Given the description of an element on the screen output the (x, y) to click on. 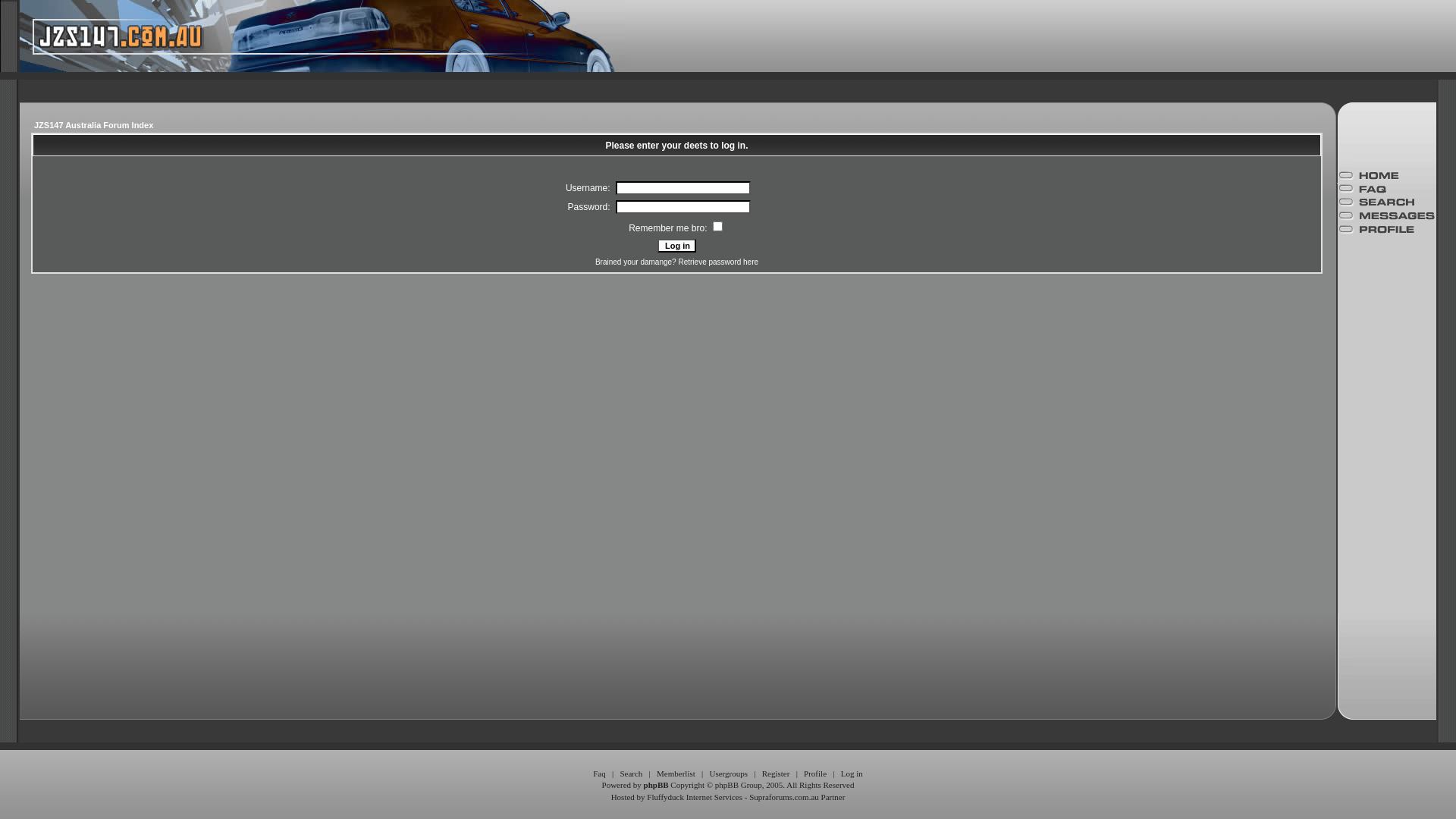
Brained your damange? Retrieve password here Element type: text (676, 261)
Log in Element type: text (676, 245)
Memberlist Element type: text (675, 773)
Supraforums.com.au Partner Element type: text (796, 796)
Faq Element type: text (599, 773)
Search Element type: text (630, 773)
phpBB Element type: text (655, 784)
Profile Element type: text (814, 773)
Hosted by Fluffyduck Internet Services Element type: text (676, 796)
JZS147 Australia Forum Index Element type: text (93, 124)
Log in Element type: text (851, 773)
Usergroups Element type: text (728, 773)
Register Element type: text (776, 773)
